Given the description of an element on the screen output the (x, y) to click on. 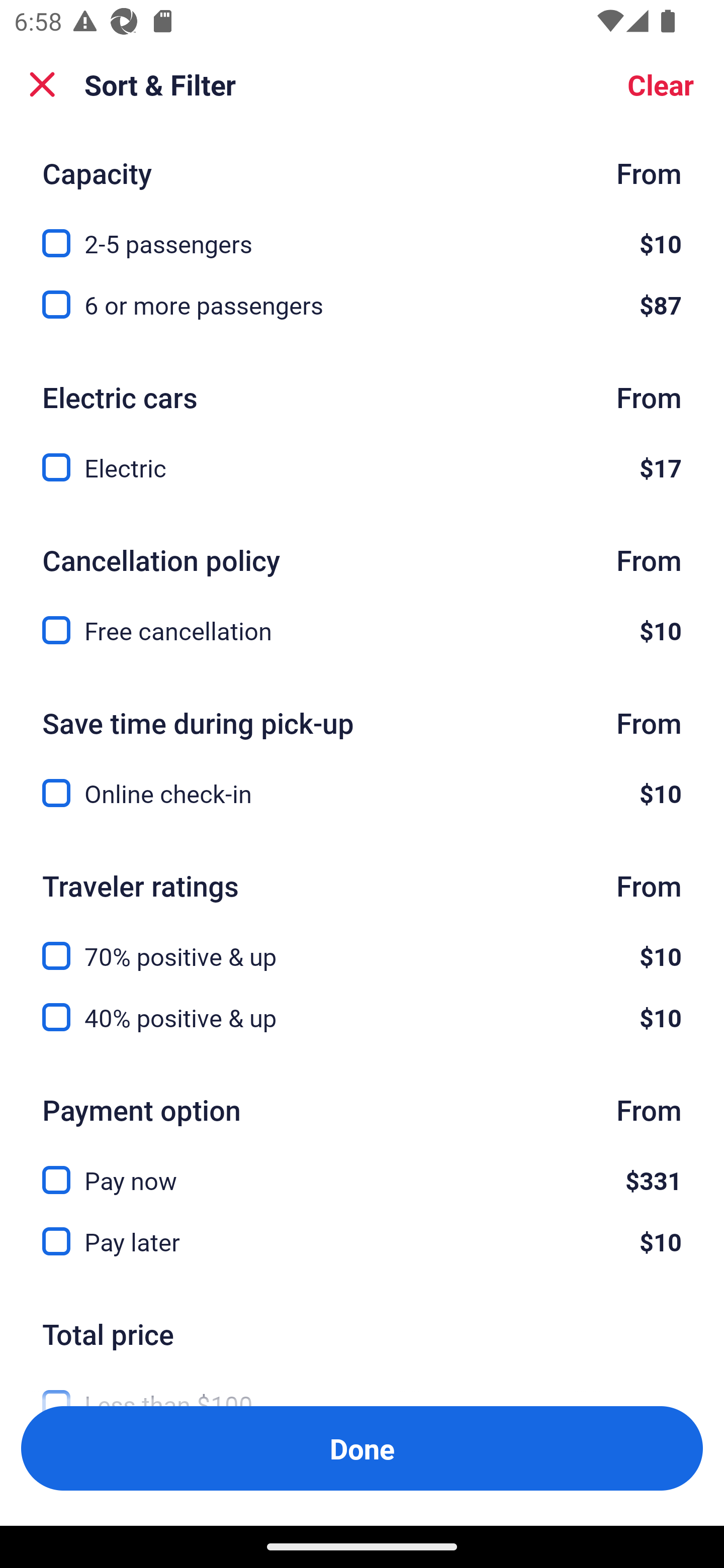
Close Sort and Filter (42, 84)
Clear (660, 84)
2-5 passengers, $10 2-5 passengers $10 (361, 232)
6 or more passengers, $87 6 or more passengers $87 (361, 304)
Electric, $17 Electric $17 (361, 466)
Free cancellation, $10 Free cancellation $10 (361, 630)
Online check-in, $10 Online check-in $10 (361, 793)
70% positive & up, $10 70% positive & up $10 (361, 944)
40% positive & up, $10 40% positive & up $10 (361, 1017)
Pay now, $331 Pay now $331 (361, 1168)
Pay later, $10 Pay later $10 (361, 1241)
Apply and close Sort and Filter Done (361, 1448)
